Given the description of an element on the screen output the (x, y) to click on. 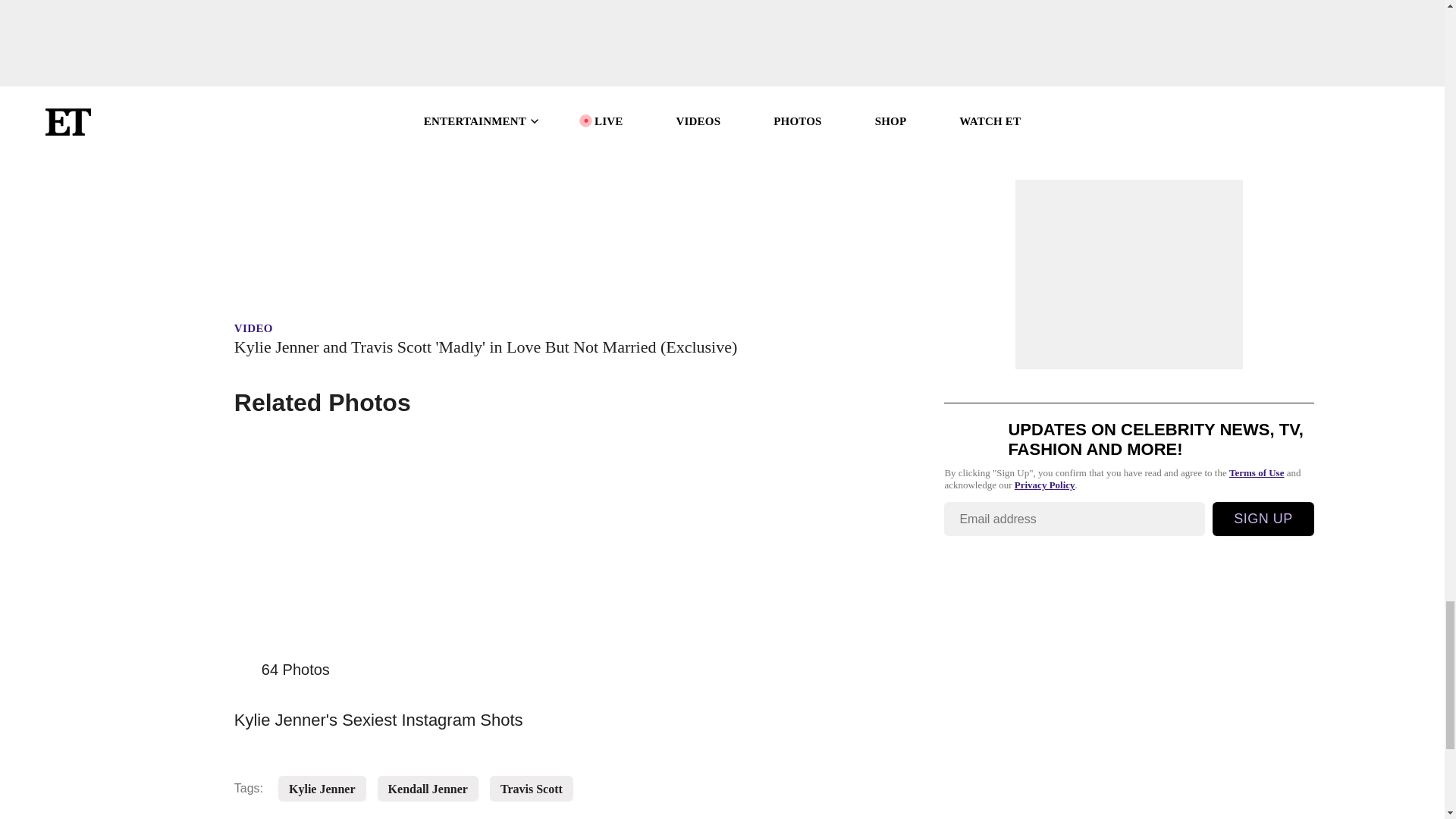
Kylie Jenner's Sexiest Instagram Shots (519, 715)
